Given the description of an element on the screen output the (x, y) to click on. 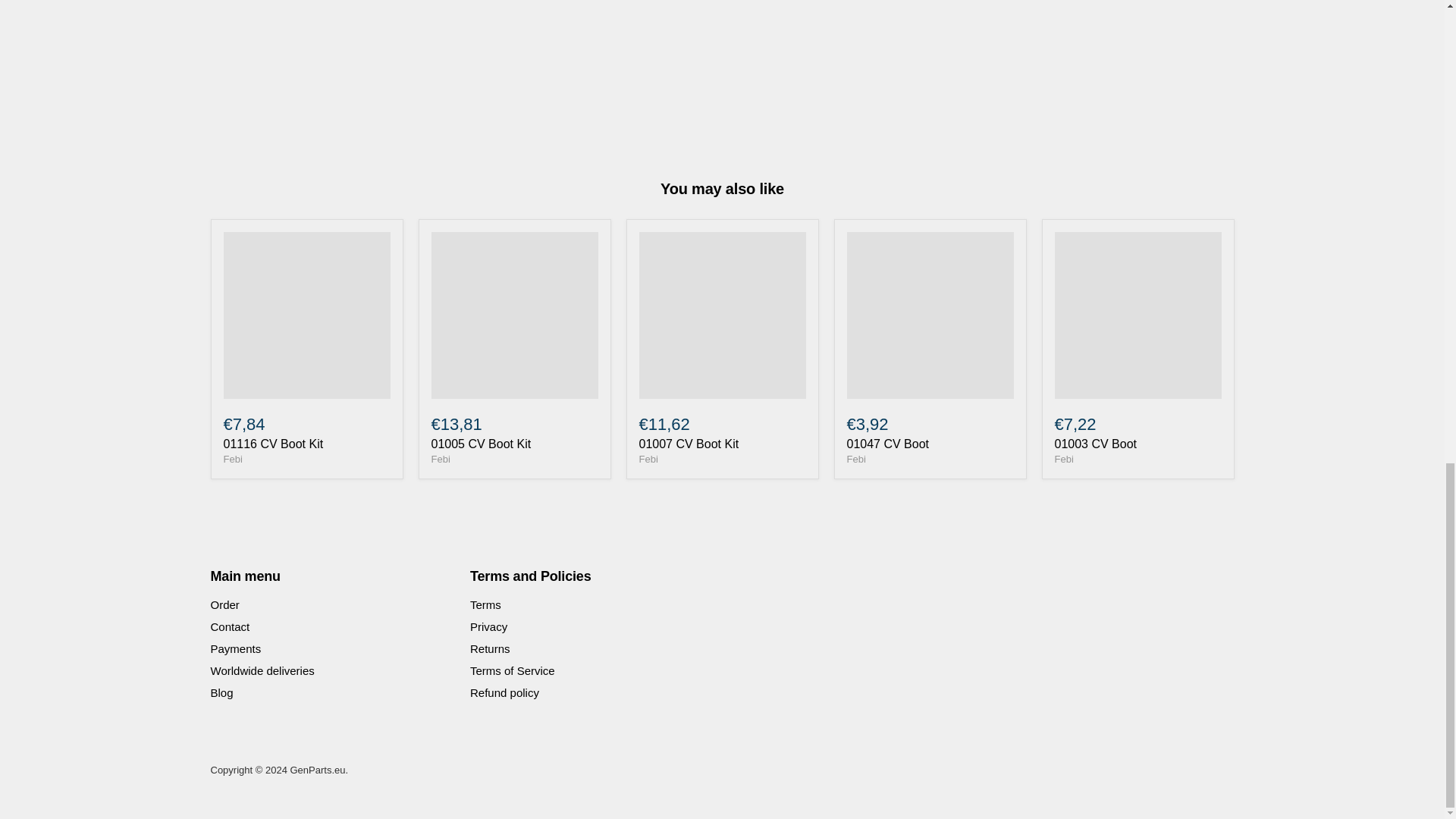
Febi (854, 459)
Febi (231, 459)
Febi (1063, 459)
Febi (439, 459)
Febi (648, 459)
